Given the description of an element on the screen output the (x, y) to click on. 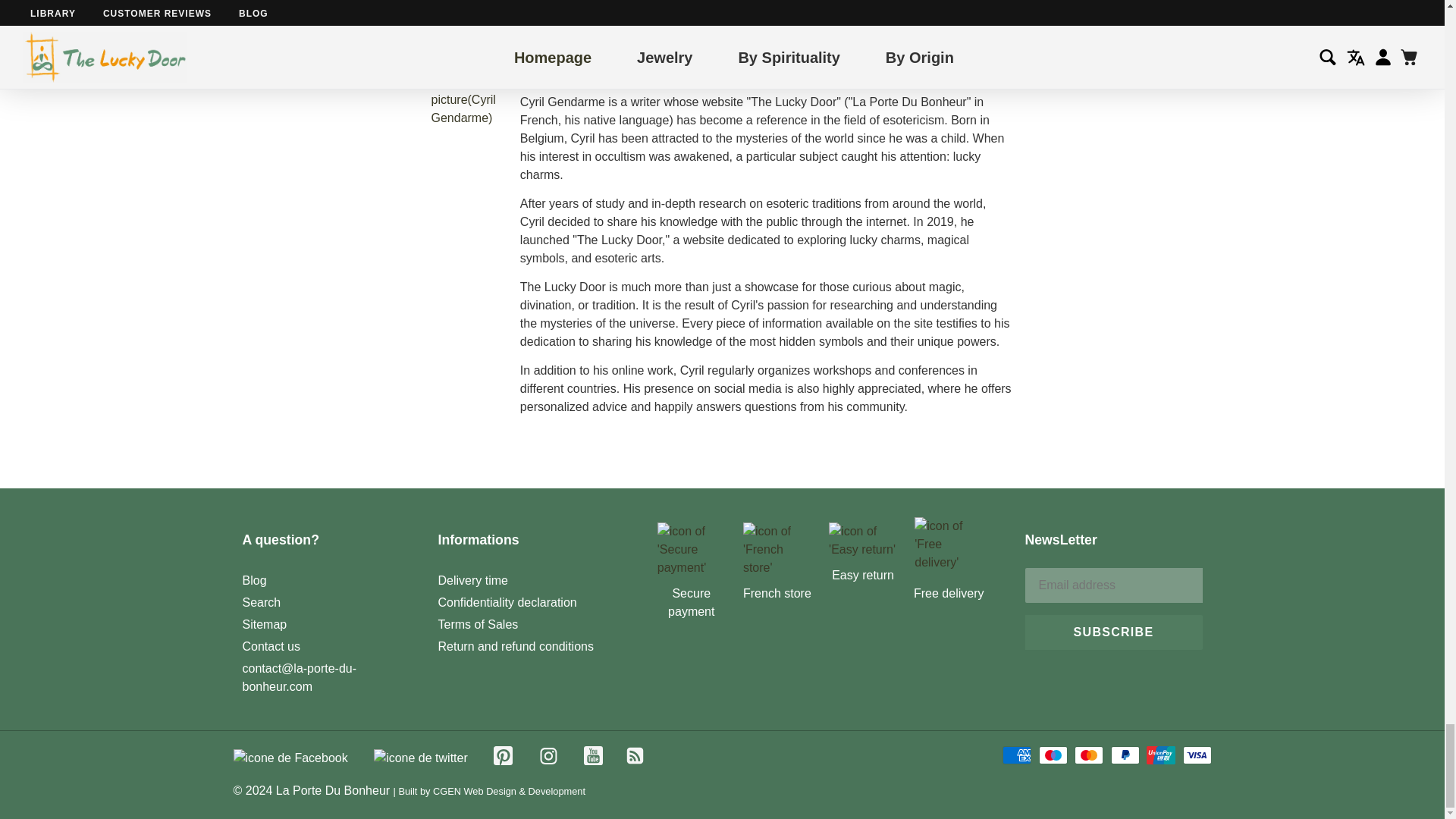
Mastercard (1088, 755)
American Express (1016, 755)
PayPal (1125, 755)
Maestro (1053, 755)
Union Pay (1160, 755)
Visa (1196, 755)
